Given the description of an element on the screen output the (x, y) to click on. 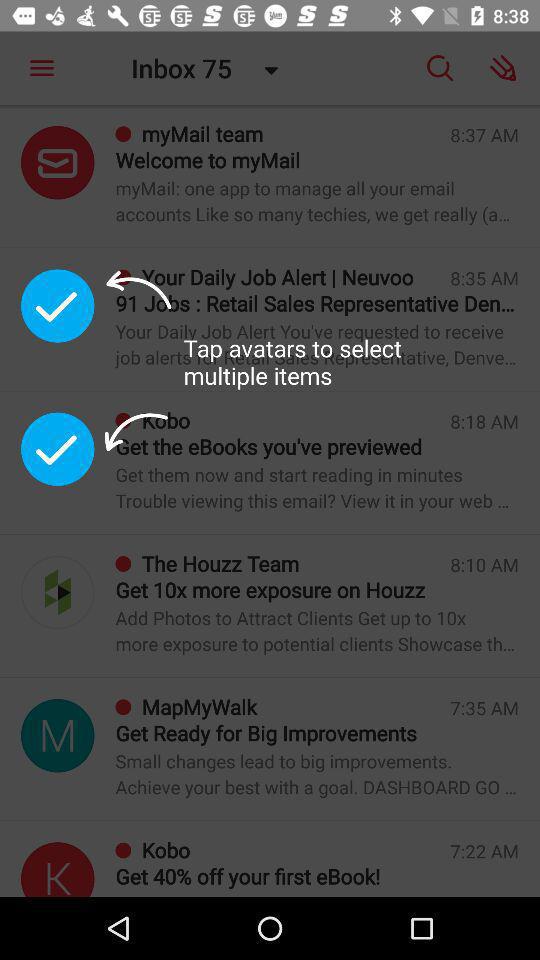
accept message (57, 449)
